Given the description of an element on the screen output the (x, y) to click on. 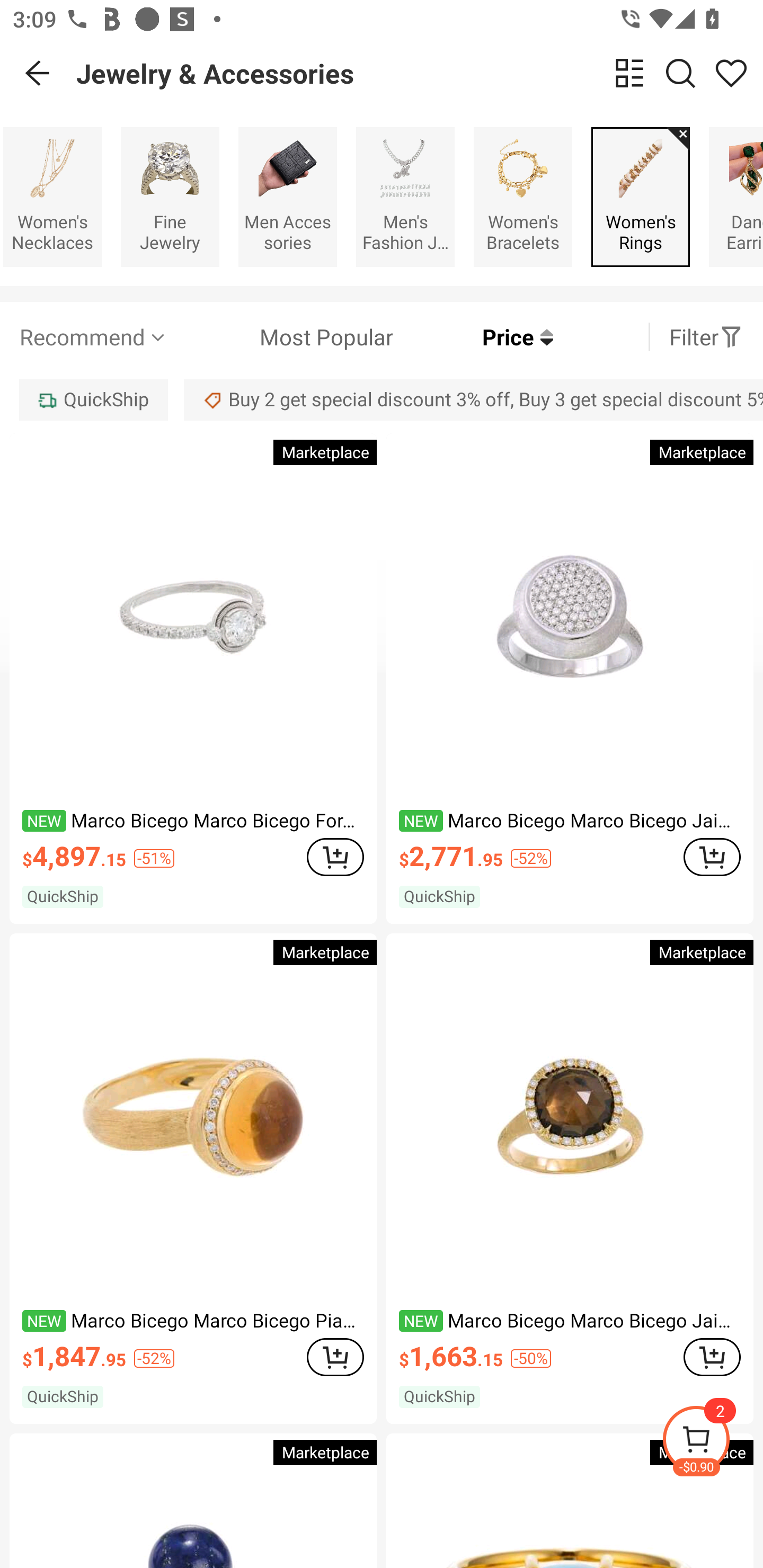
Jewelry & Accessories change view Search Share (419, 72)
change view (629, 72)
Search (679, 72)
Share (730, 72)
Women's Necklaces (52, 196)
Fine Jewelry (169, 196)
Men Accessories (287, 196)
Men's Fashion Jewelry (405, 196)
Women's Bracelets (522, 196)
Women's Rings (640, 196)
Dangle Earrings (735, 196)
Recommend (93, 336)
Most Popular (280, 336)
Price (472, 336)
Filter (705, 336)
QuickShip (93, 399)
ADD TO CART (334, 856)
ADD TO CART (711, 856)
ADD TO CART (334, 1356)
ADD TO CART (711, 1356)
-$0.90 (712, 1441)
